Given the description of an element on the screen output the (x, y) to click on. 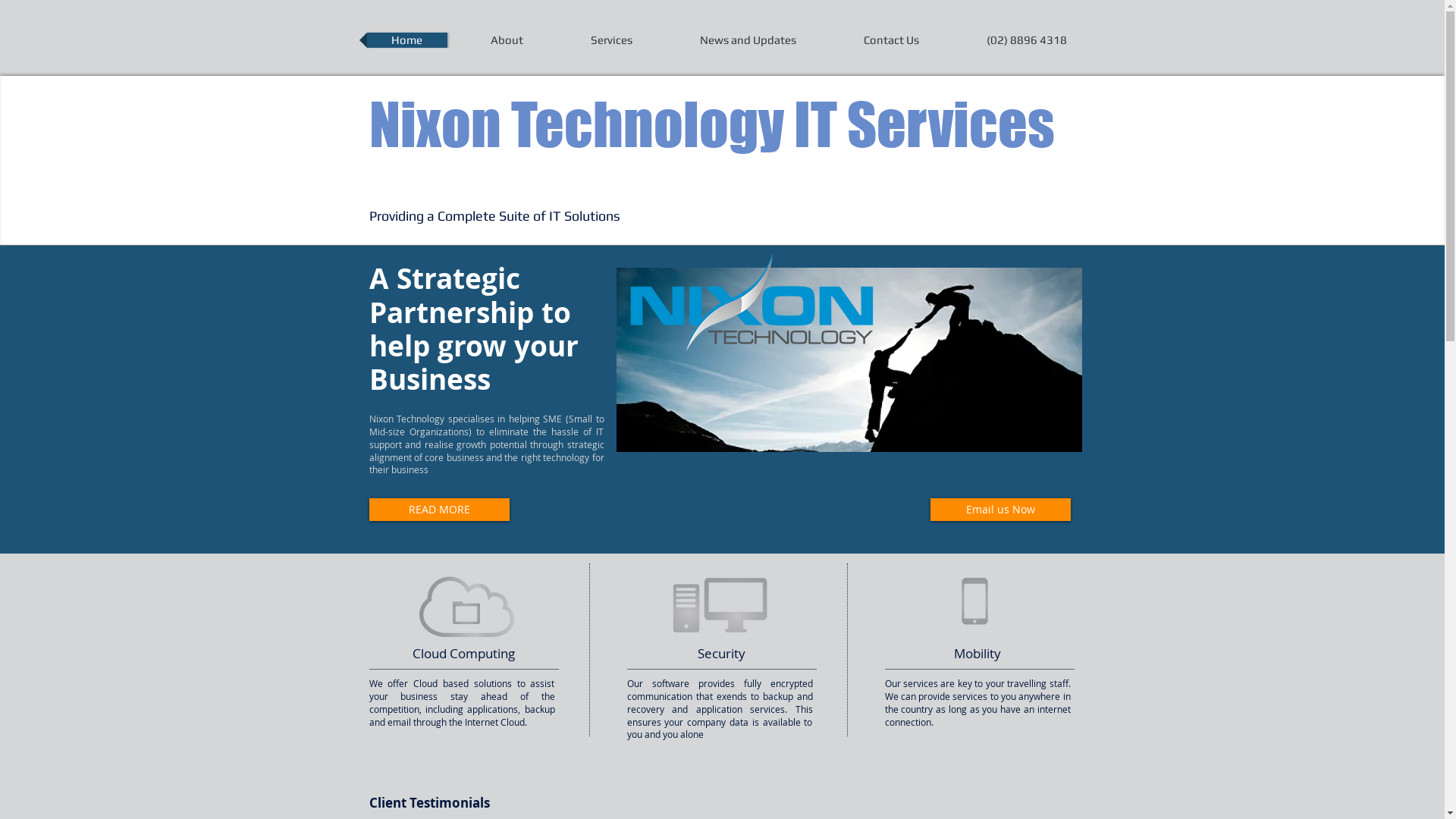
Home Element type: text (407, 39)
Contact Us Element type: text (890, 39)
READ MORE Element type: text (438, 509)
PNG.png Element type: hover (753, 303)
(02) 8896 4318 Element type: text (1025, 39)
News and Updates Element type: text (747, 39)
About Element type: text (506, 39)
partnership1.jpg Element type: hover (848, 359)
Services Element type: text (610, 39)
Email us Now Element type: text (999, 509)
